Given the description of an element on the screen output the (x, y) to click on. 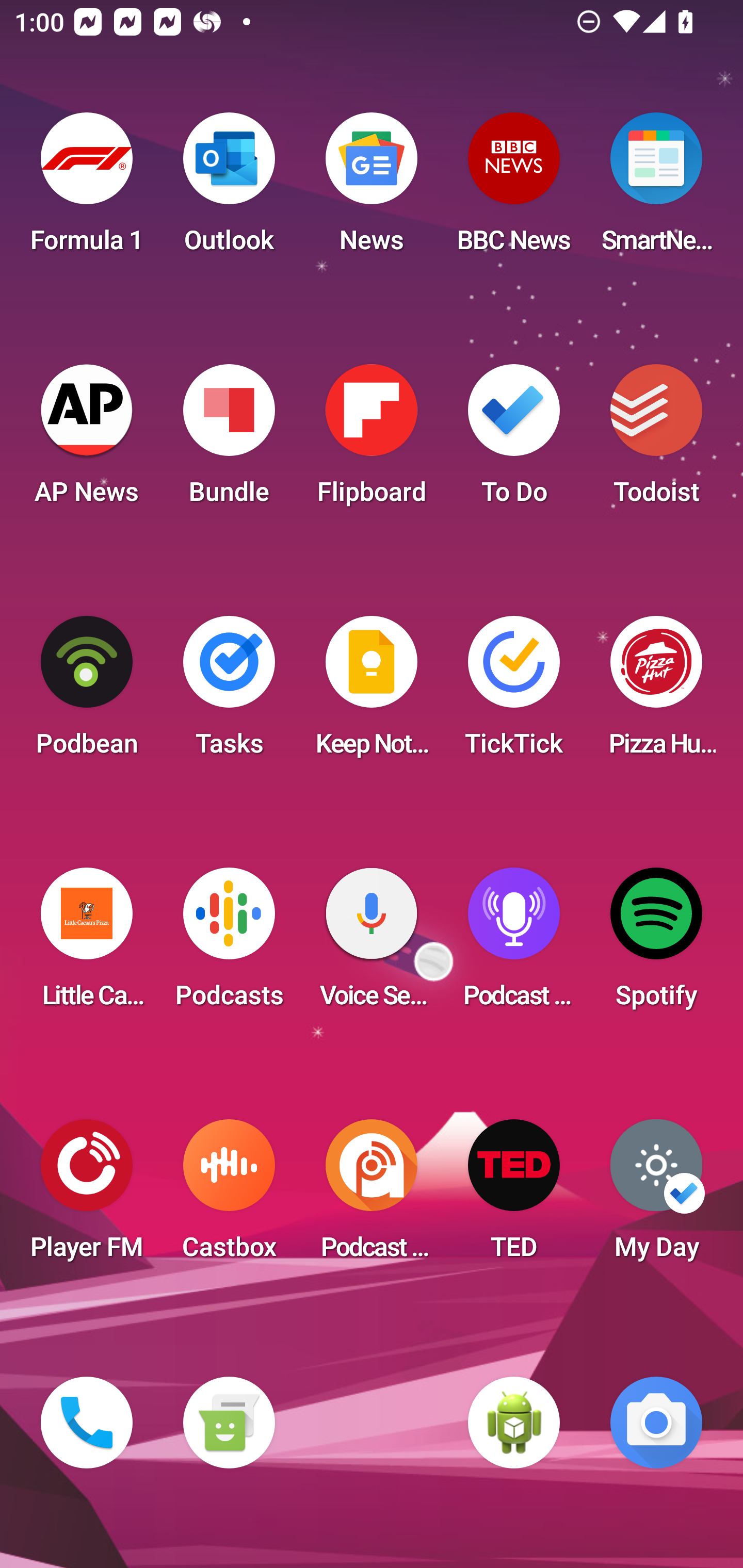
Formula 1 (86, 188)
Outlook (228, 188)
News (371, 188)
BBC News (513, 188)
SmartNews (656, 188)
AP News (86, 440)
Bundle (228, 440)
Flipboard (371, 440)
To Do (513, 440)
Todoist (656, 440)
Podbean (86, 692)
Tasks (228, 692)
Keep Notes (371, 692)
TickTick (513, 692)
Pizza Hut HK & Macau (656, 692)
Little Caesars Pizza (86, 943)
Podcasts (228, 943)
Voice Search (371, 943)
Podcast Player (513, 943)
Spotify (656, 943)
Player FM (86, 1195)
Castbox (228, 1195)
Podcast Addict (371, 1195)
TED (513, 1195)
My Day (656, 1195)
Phone (86, 1422)
Messaging (228, 1422)
WebView Browser Tester (513, 1422)
Camera (656, 1422)
